Given the description of an element on the screen output the (x, y) to click on. 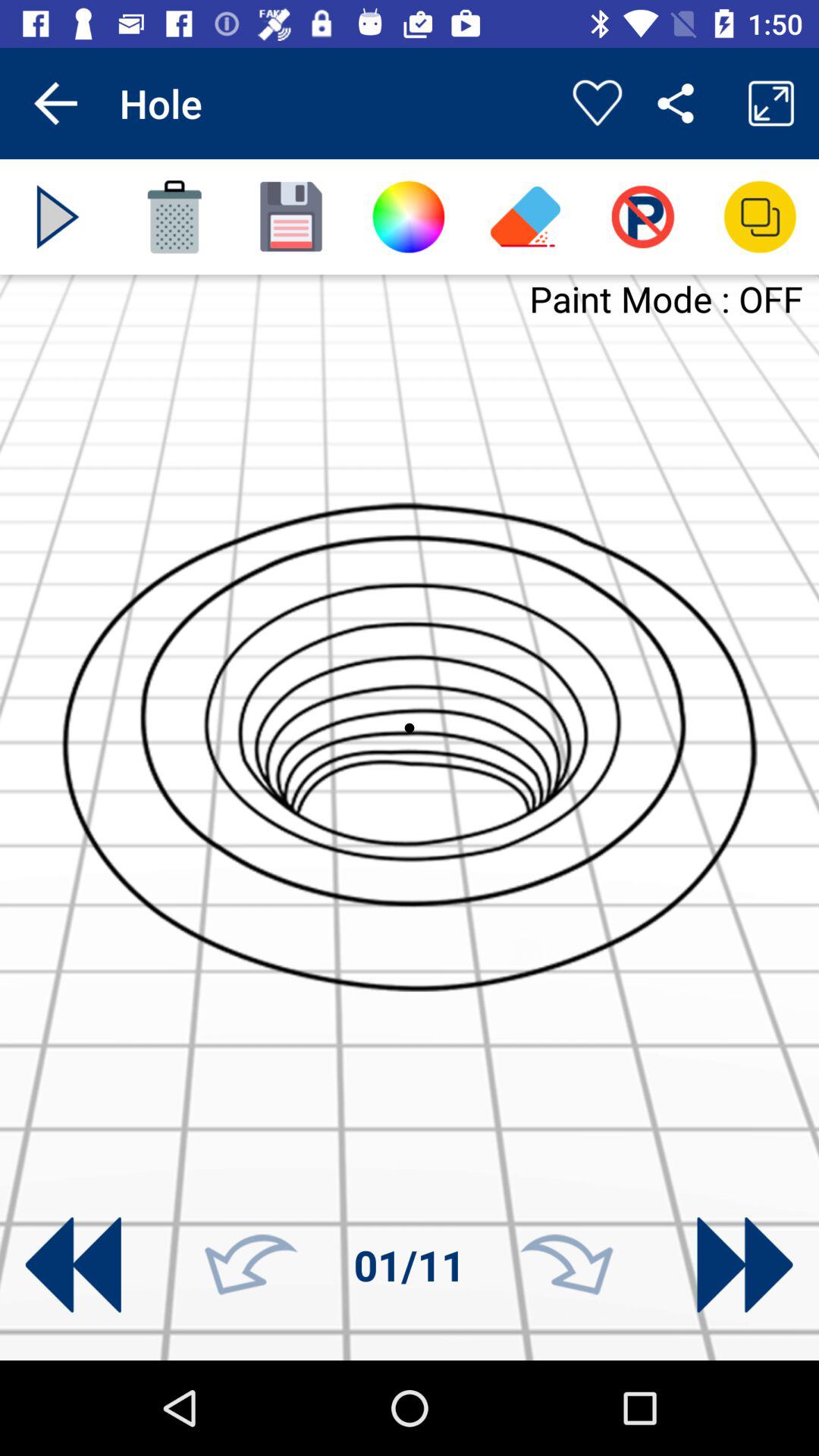
toggle layer (759, 216)
